Given the description of an element on the screen output the (x, y) to click on. 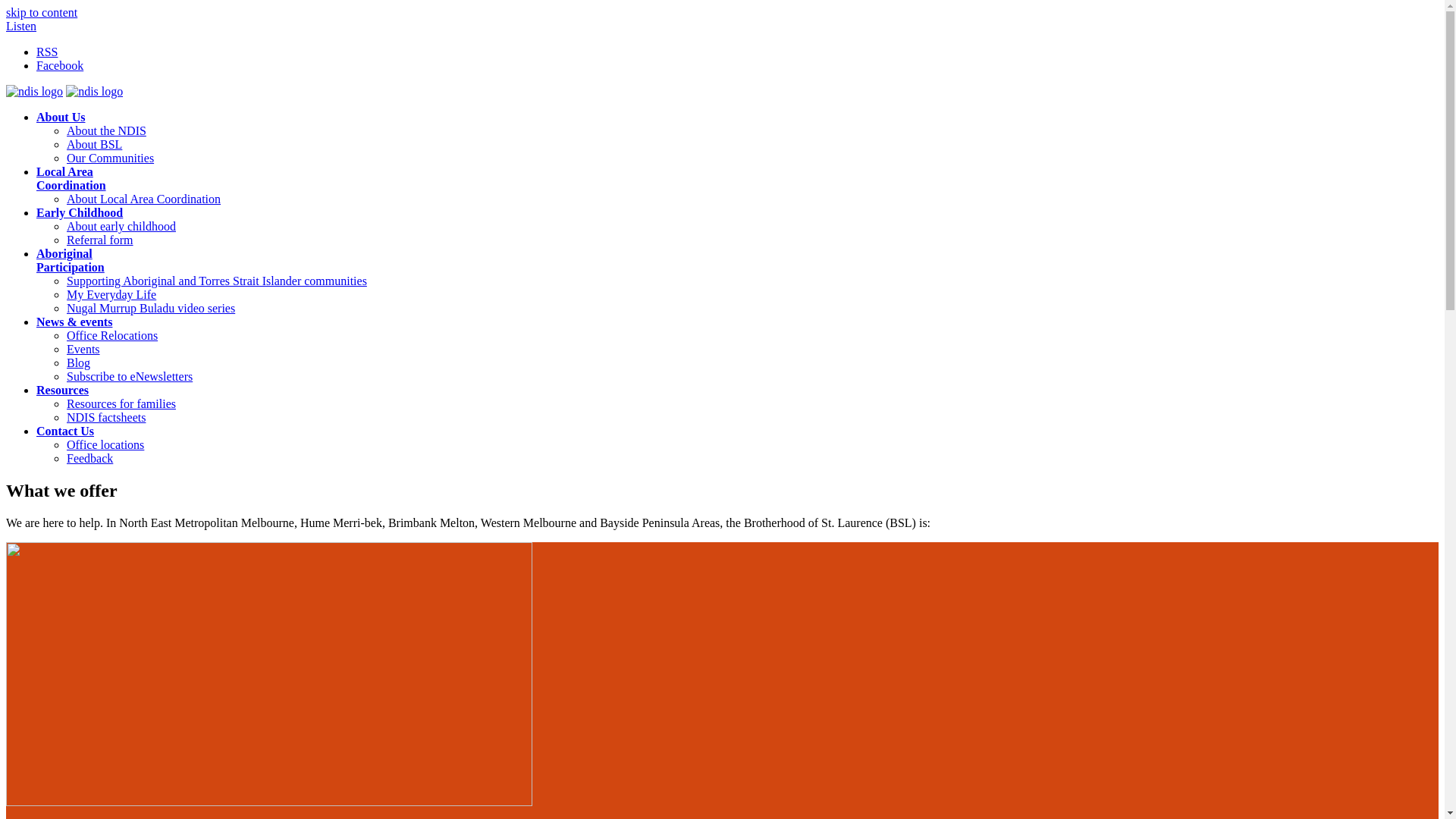
My Everyday Life Element type: text (111, 294)
Resources for families Element type: text (120, 403)
Subscribe to eNewsletters Element type: text (129, 376)
RSS Element type: text (46, 51)
About BSL Element type: text (94, 144)
Our Communities Element type: text (109, 157)
Facebook Element type: text (59, 65)
About the NDIS Element type: text (106, 130)
skip to content Element type: text (41, 12)
Early Childhood Element type: text (79, 212)
Local Area
Coordination Element type: text (71, 178)
Nugal Murrup Buladu video series Element type: text (150, 307)
Resources Element type: text (62, 389)
NDIS factsheets Element type: text (105, 417)
About Us Element type: text (60, 116)
Contact Us Element type: text (65, 430)
Blog Element type: text (78, 362)
About early childhood Element type: text (120, 225)
Listen Element type: text (21, 25)
Referral form Element type: text (99, 239)
Aboriginal
Participation Element type: text (70, 260)
News & events Element type: text (74, 321)
Feedback Element type: text (89, 457)
Office Relocations Element type: text (111, 335)
Events Element type: text (83, 348)
Office locations Element type: text (105, 444)
Supporting Aboriginal and Torres Strait Islander communities Element type: text (216, 280)
About Local Area Coordination Element type: text (143, 198)
